Given the description of an element on the screen output the (x, y) to click on. 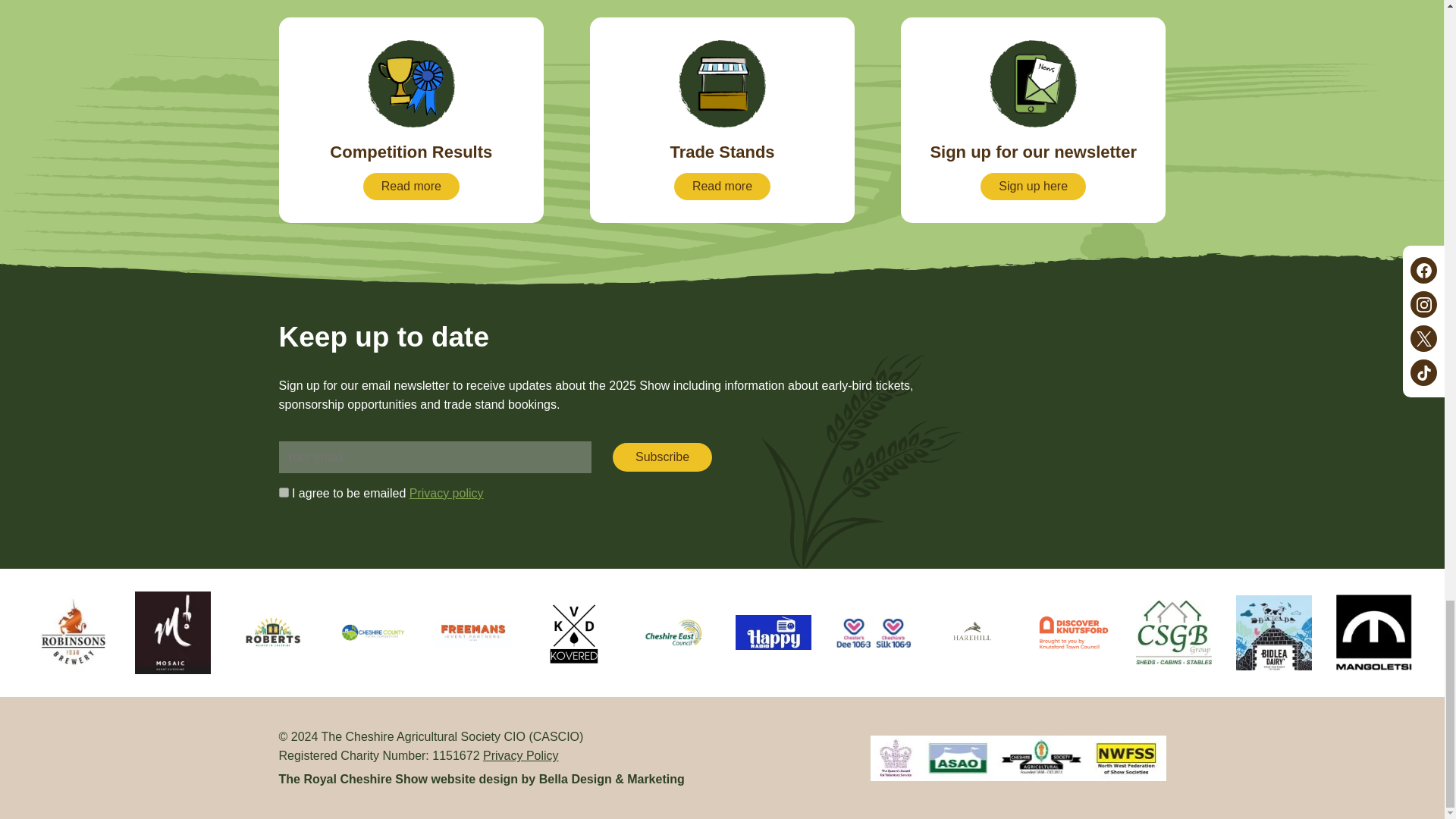
Subscribe (661, 457)
on (411, 119)
Privacy Policy (283, 492)
Privacy policy (1033, 119)
